Given the description of an element on the screen output the (x, y) to click on. 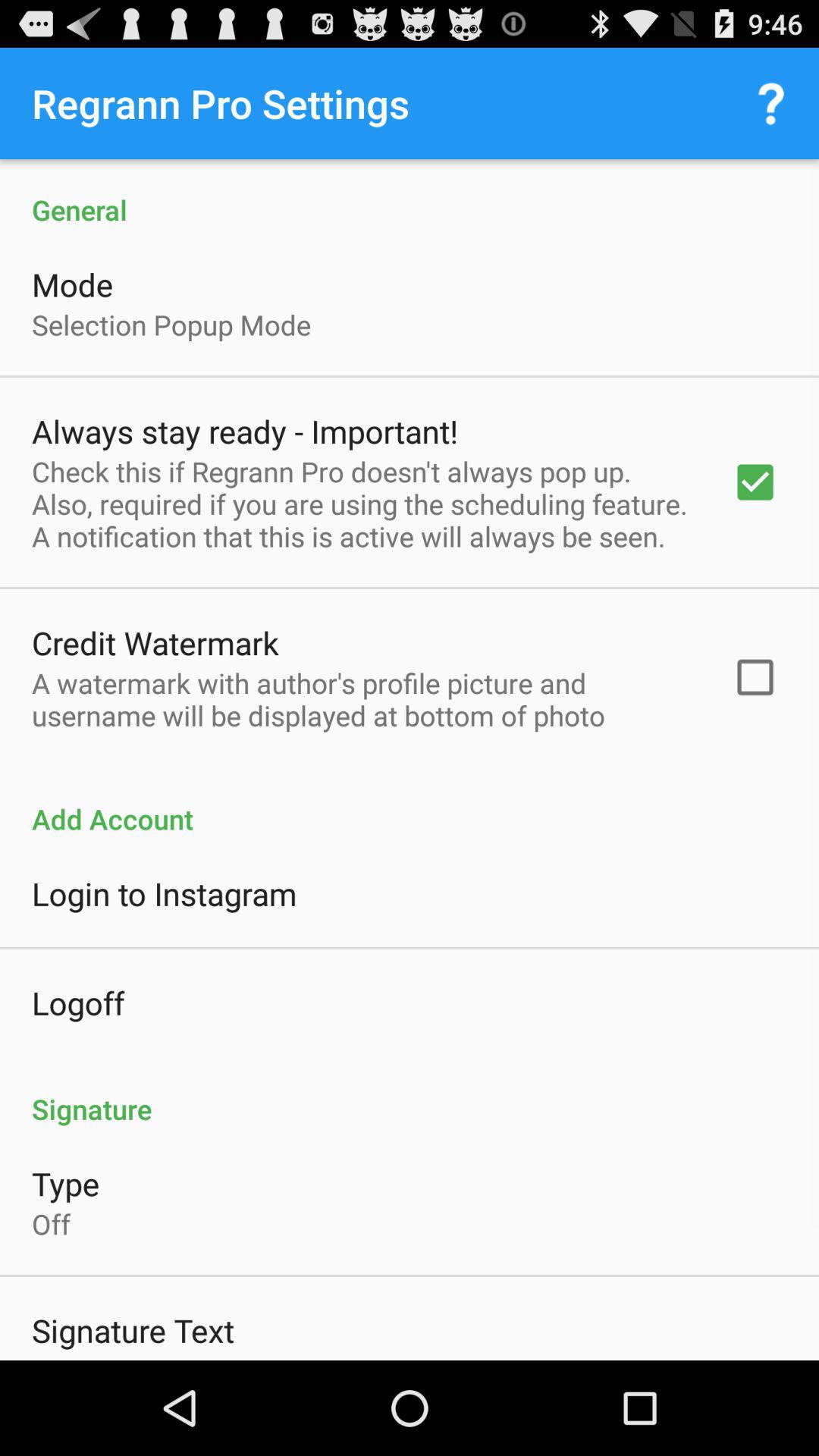
press the credit watermark icon (154, 642)
